Given the description of an element on the screen output the (x, y) to click on. 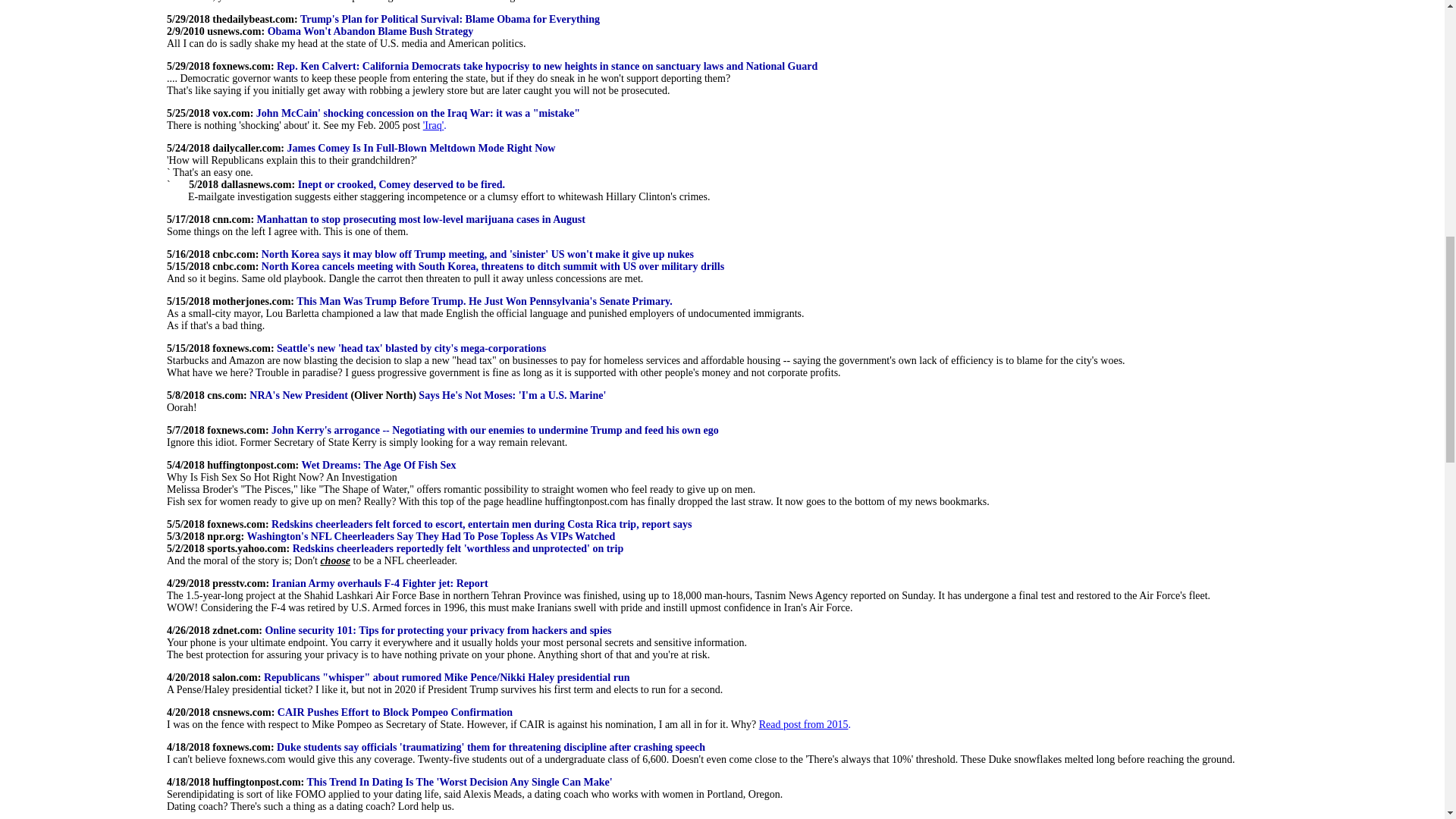
Read post from 2015. (804, 724)
'Iraq'. (434, 125)
